Given the description of an element on the screen output the (x, y) to click on. 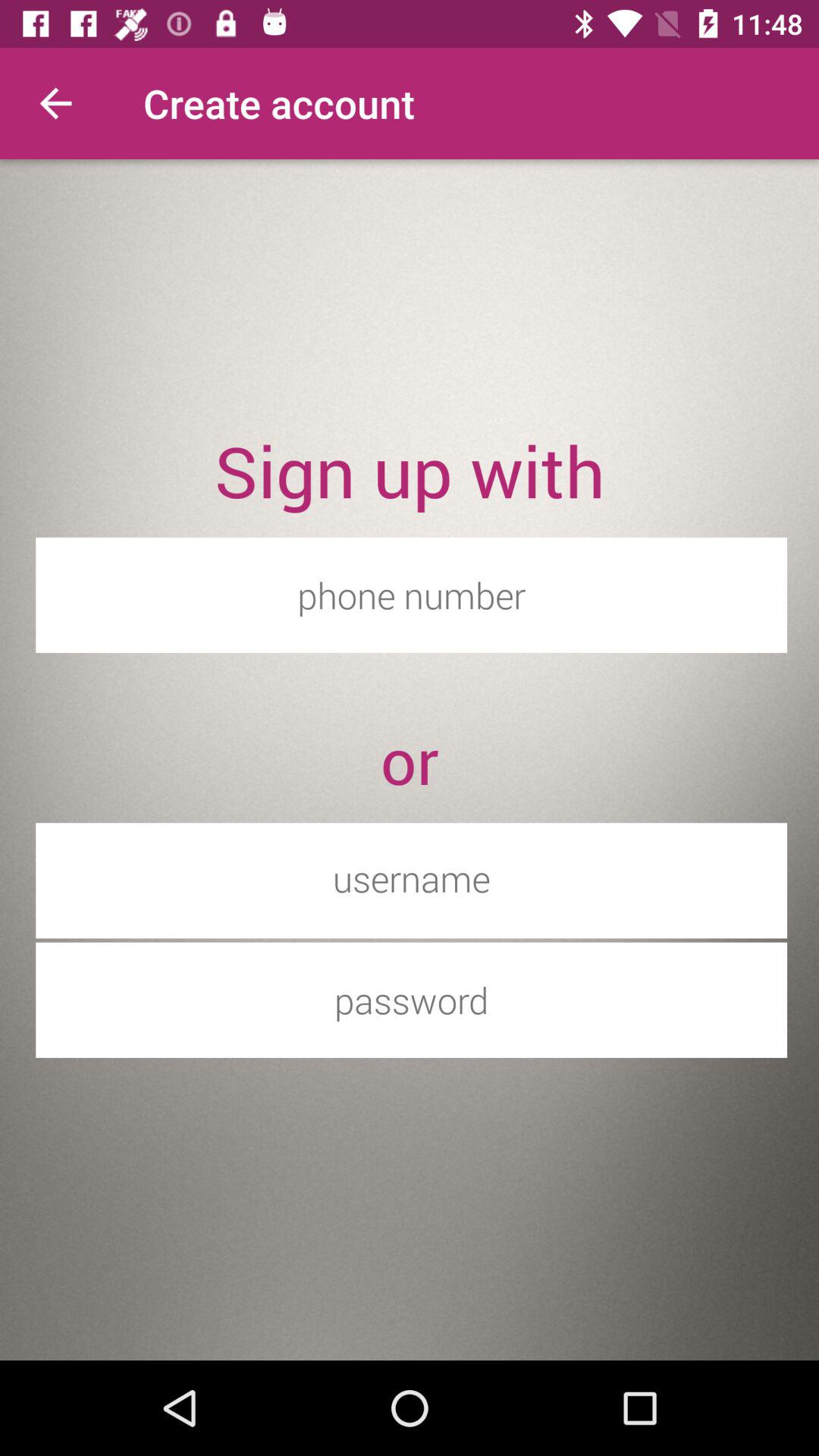
select icon next to the create account item (55, 103)
